Given the description of an element on the screen output the (x, y) to click on. 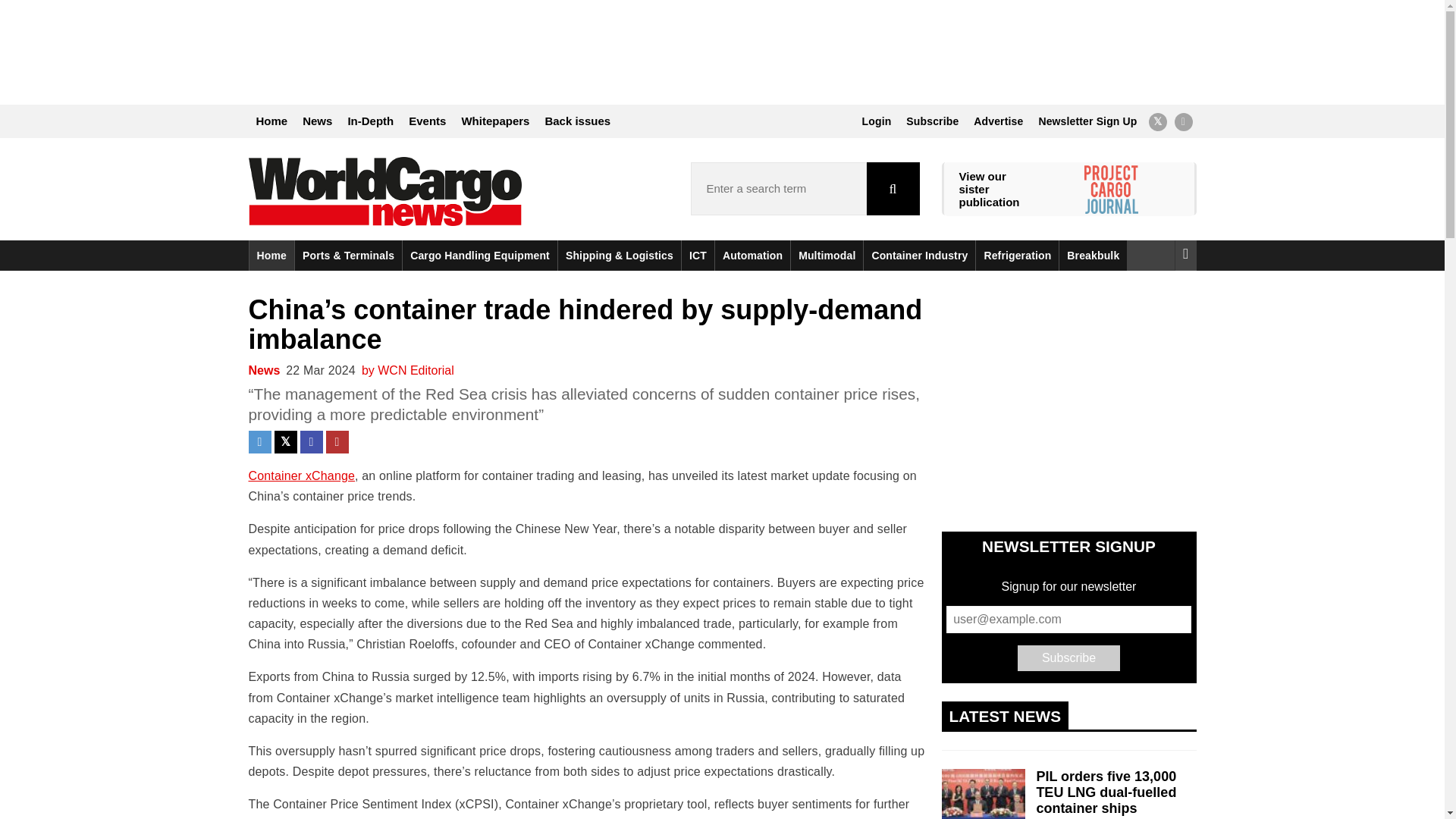
Login (876, 121)
Advertise (998, 121)
Cargo Handling Equipment (480, 255)
In-Depth (370, 121)
News (317, 121)
Subscribe (932, 121)
View our sister publication (988, 188)
Home (271, 121)
3rd party ad content (721, 52)
Newsletter Sign Up (1087, 121)
